Given the description of an element on the screen output the (x, y) to click on. 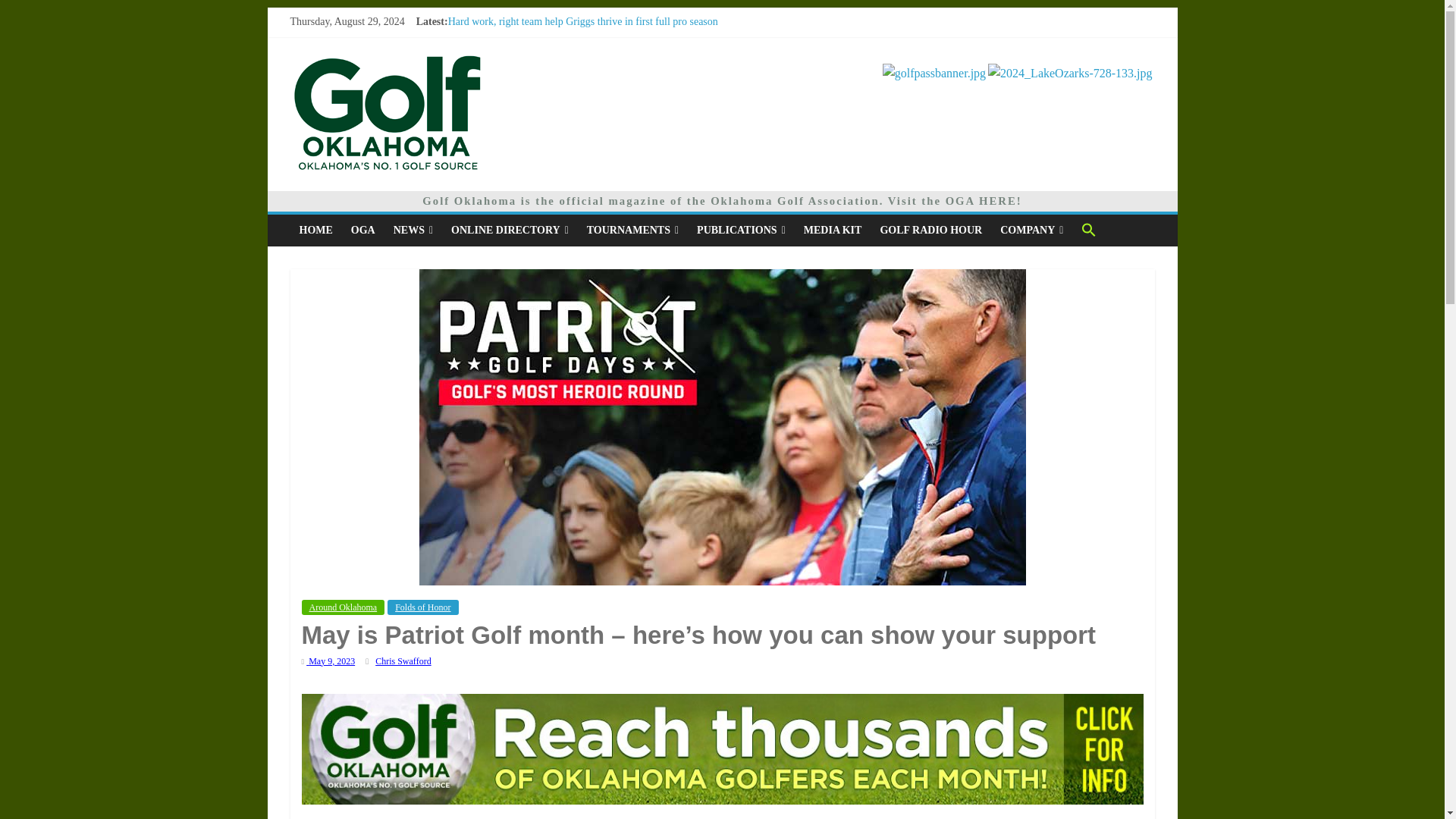
TOURNAMENTS (632, 230)
The zero-torque Allen putter from PXG (531, 71)
HOME (314, 230)
The zero-torque Allen putter from PXG (531, 71)
Hill, Robson lead OCU to title in U.C. Ferguson Classic (567, 55)
Hill, Robson lead OCU to title in U.C. Ferguson Classic (567, 55)
